Given the description of an element on the screen output the (x, y) to click on. 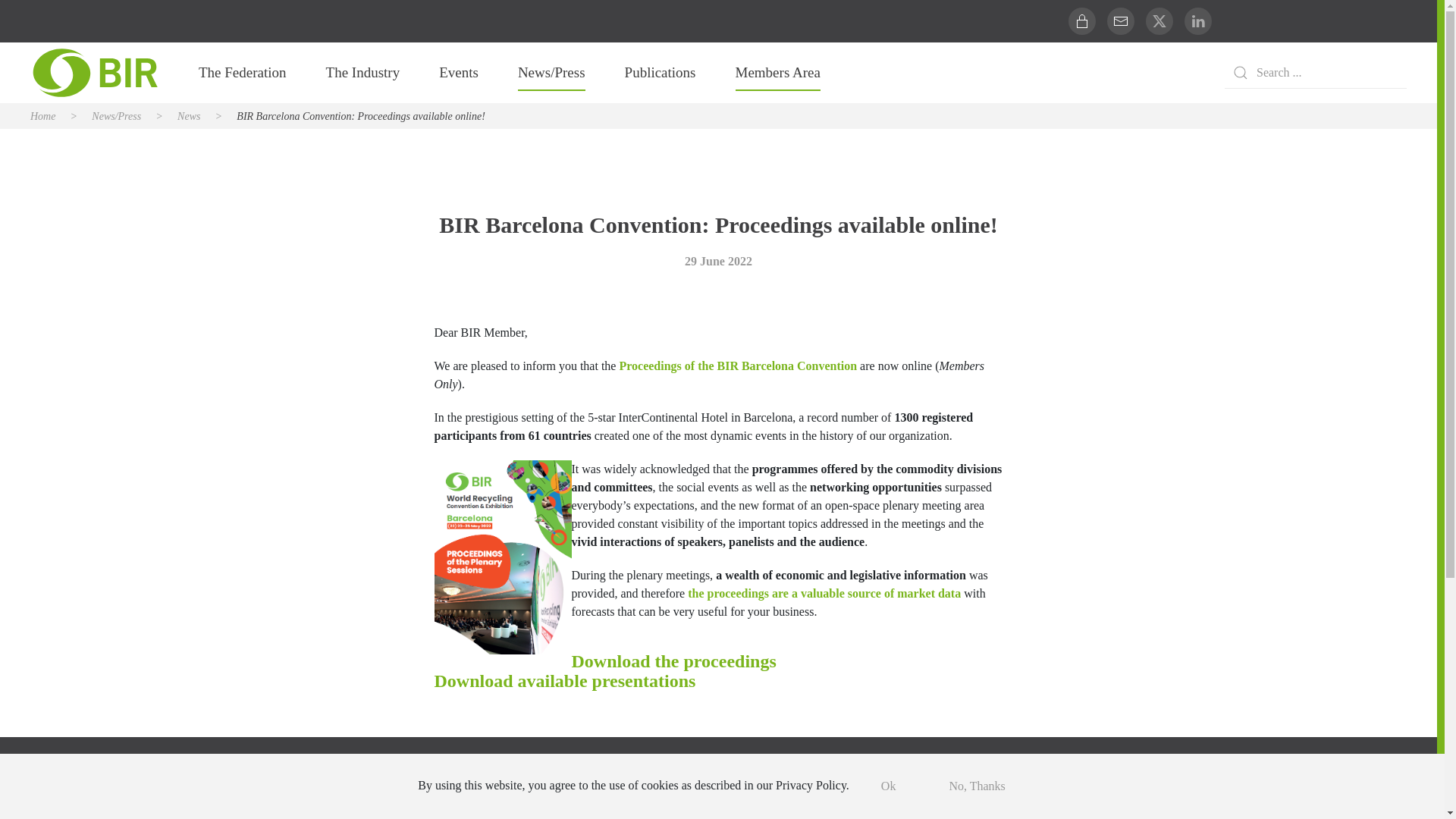
Subscribe (907, 787)
Return to top (1157, 777)
